Given the description of an element on the screen output the (x, y) to click on. 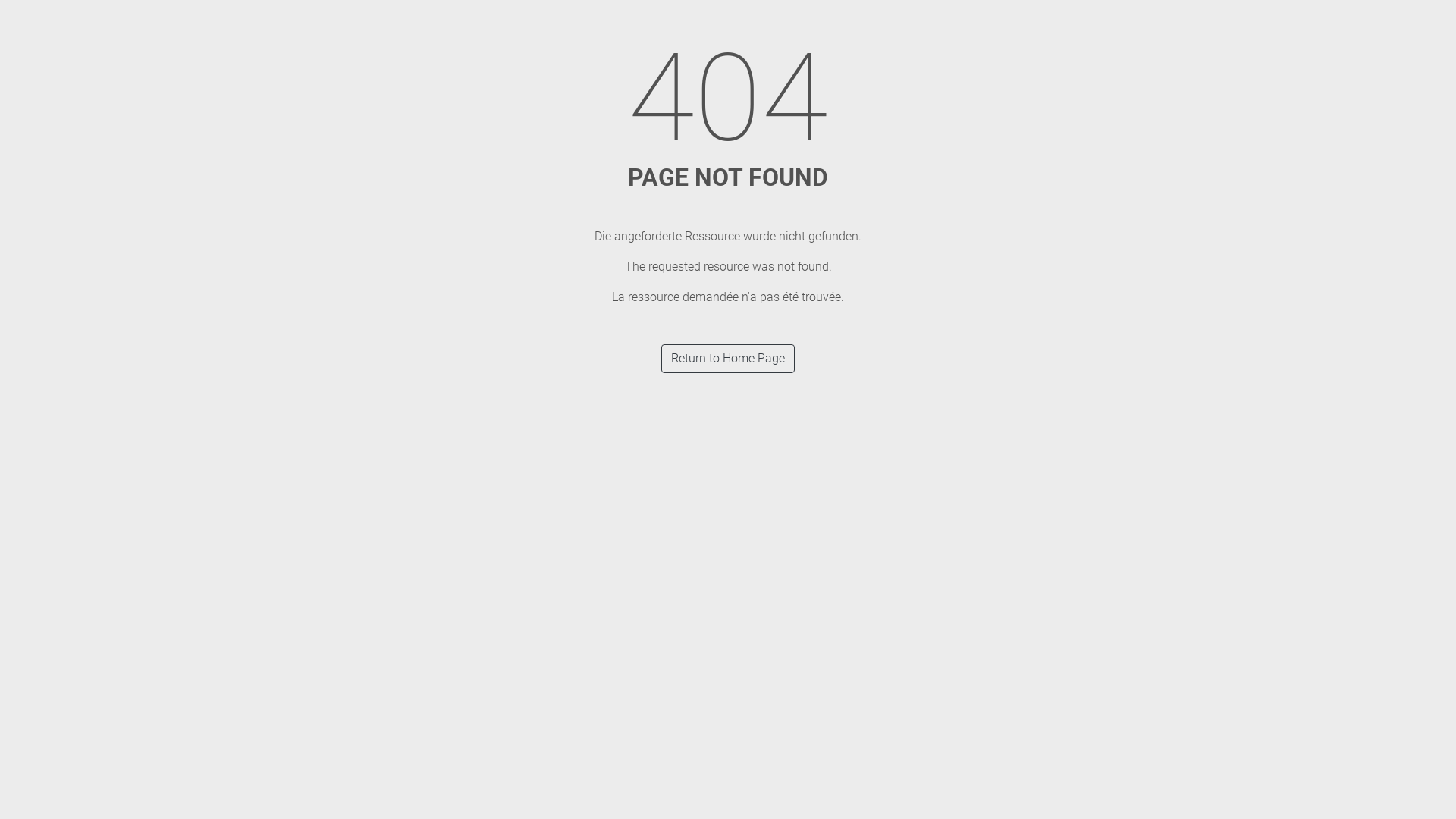
Return to Home Page Element type: text (727, 358)
